Given the description of an element on the screen output the (x, y) to click on. 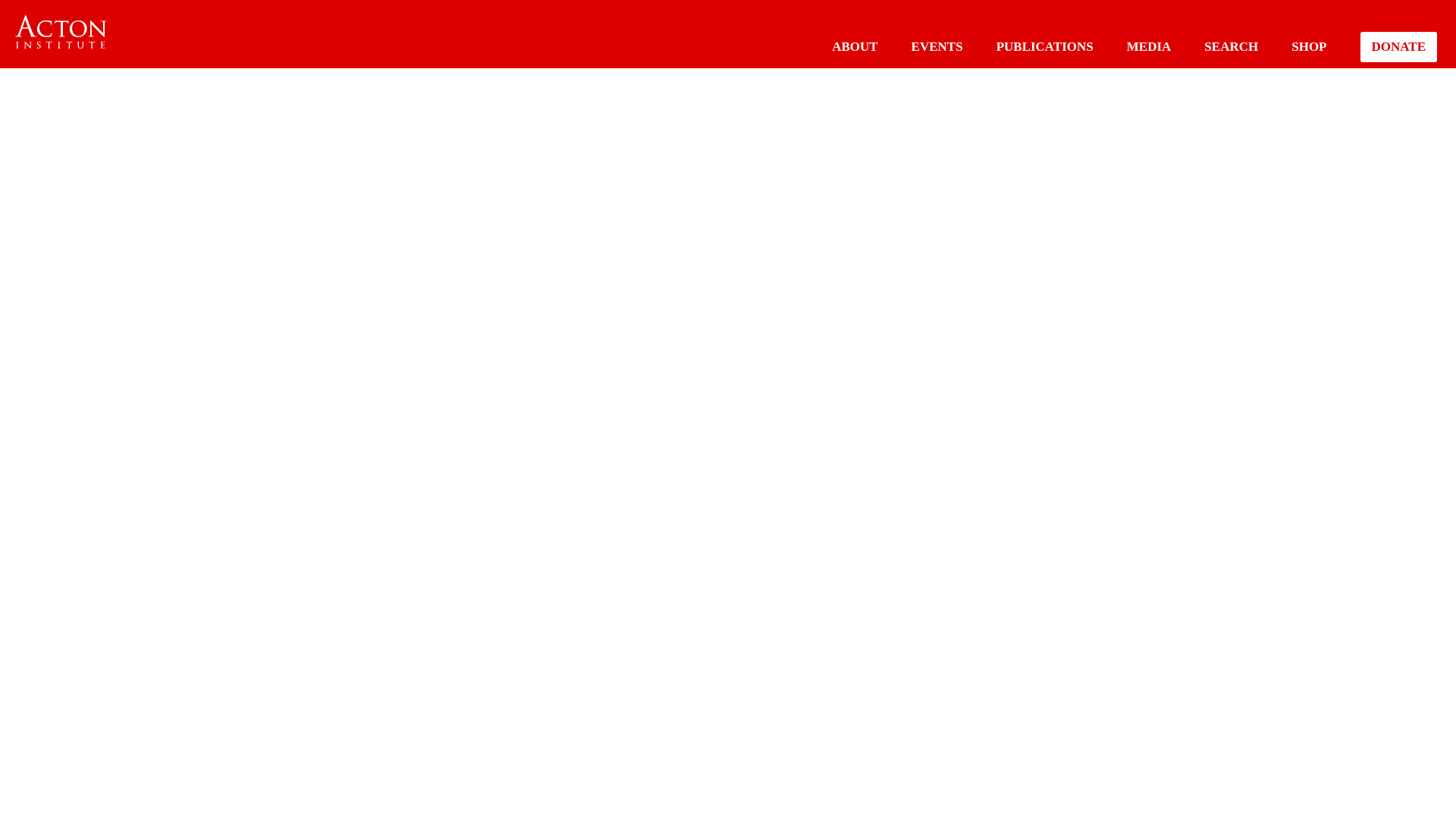
DONATE (1398, 46)
MEDIA (1149, 46)
PUBLICATIONS (1044, 46)
SEARCH (1230, 46)
The Acton Institute (60, 31)
SHOP (1308, 46)
ABOUT (854, 46)
EVENTS (936, 46)
